Given the description of an element on the screen output the (x, y) to click on. 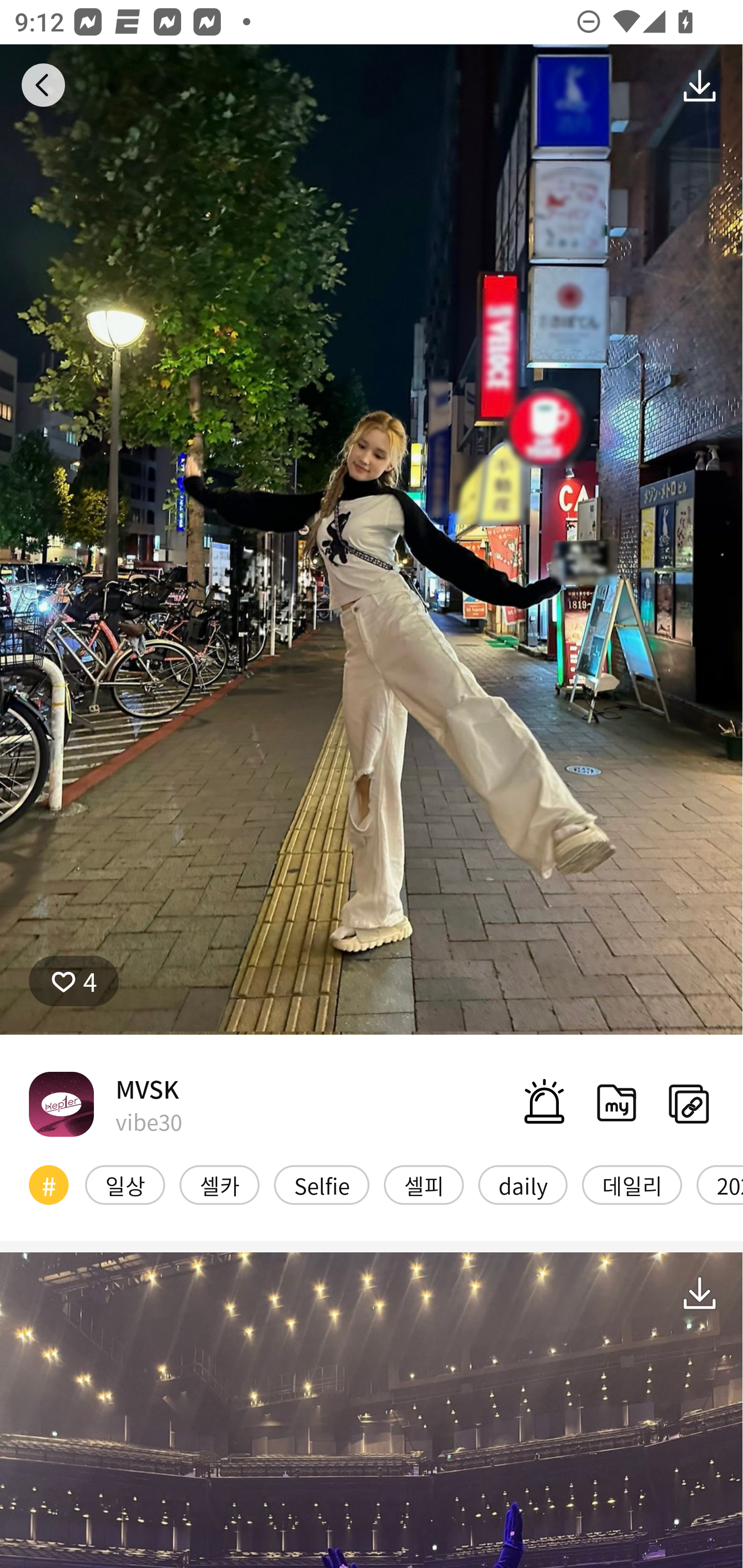
4 (73, 980)
MVSK vibe30 (105, 1103)
일상 (124, 1184)
셀카 (219, 1184)
Selfie (321, 1184)
셀피 (423, 1184)
daily (522, 1184)
데일리 (631, 1184)
